Given the description of an element on the screen output the (x, y) to click on. 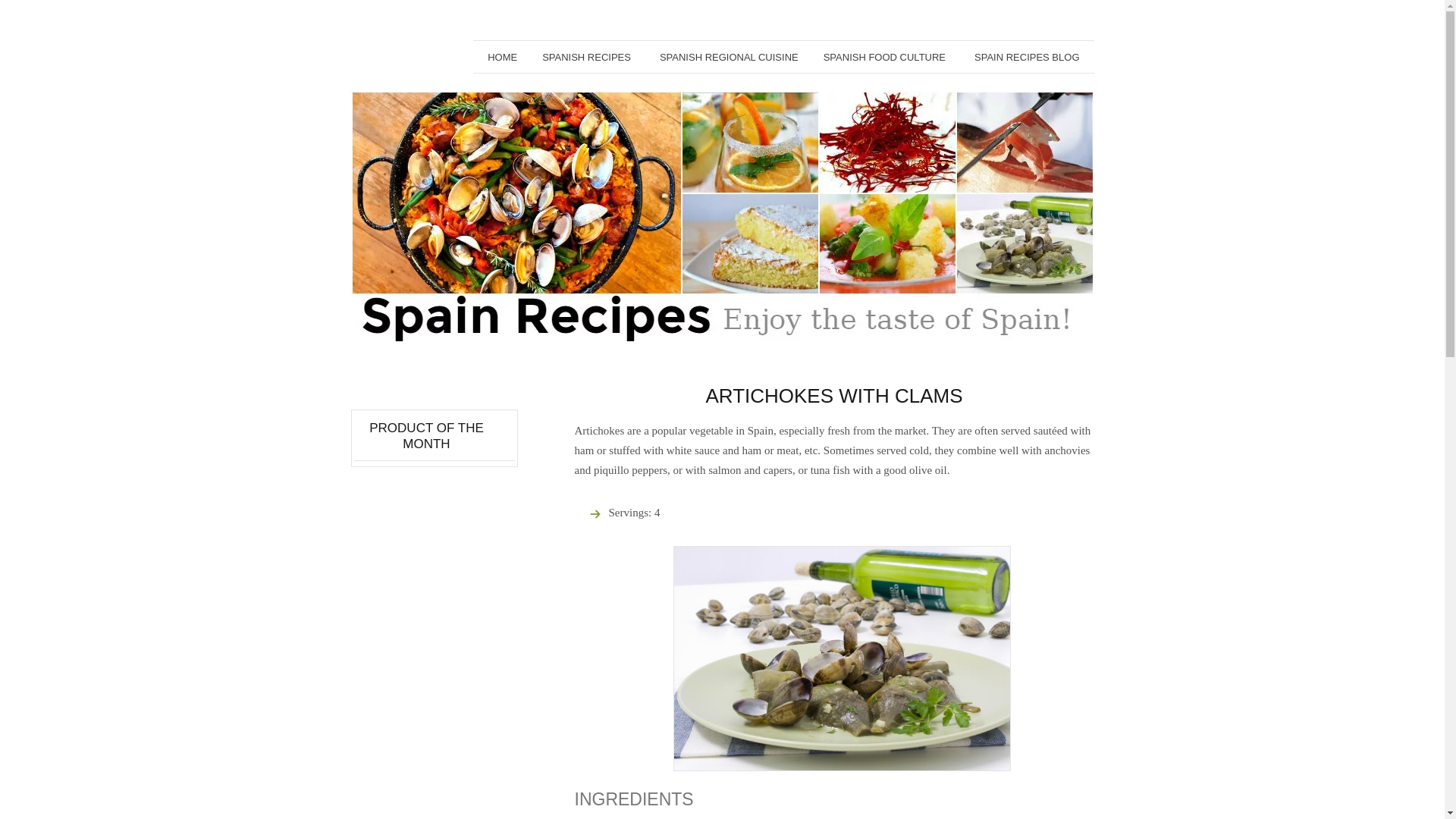
HOME (502, 56)
SPAIN RECIPES BLOG (1026, 56)
SPANISH REGIONAL CUISINE (728, 56)
